Given the description of an element on the screen output the (x, y) to click on. 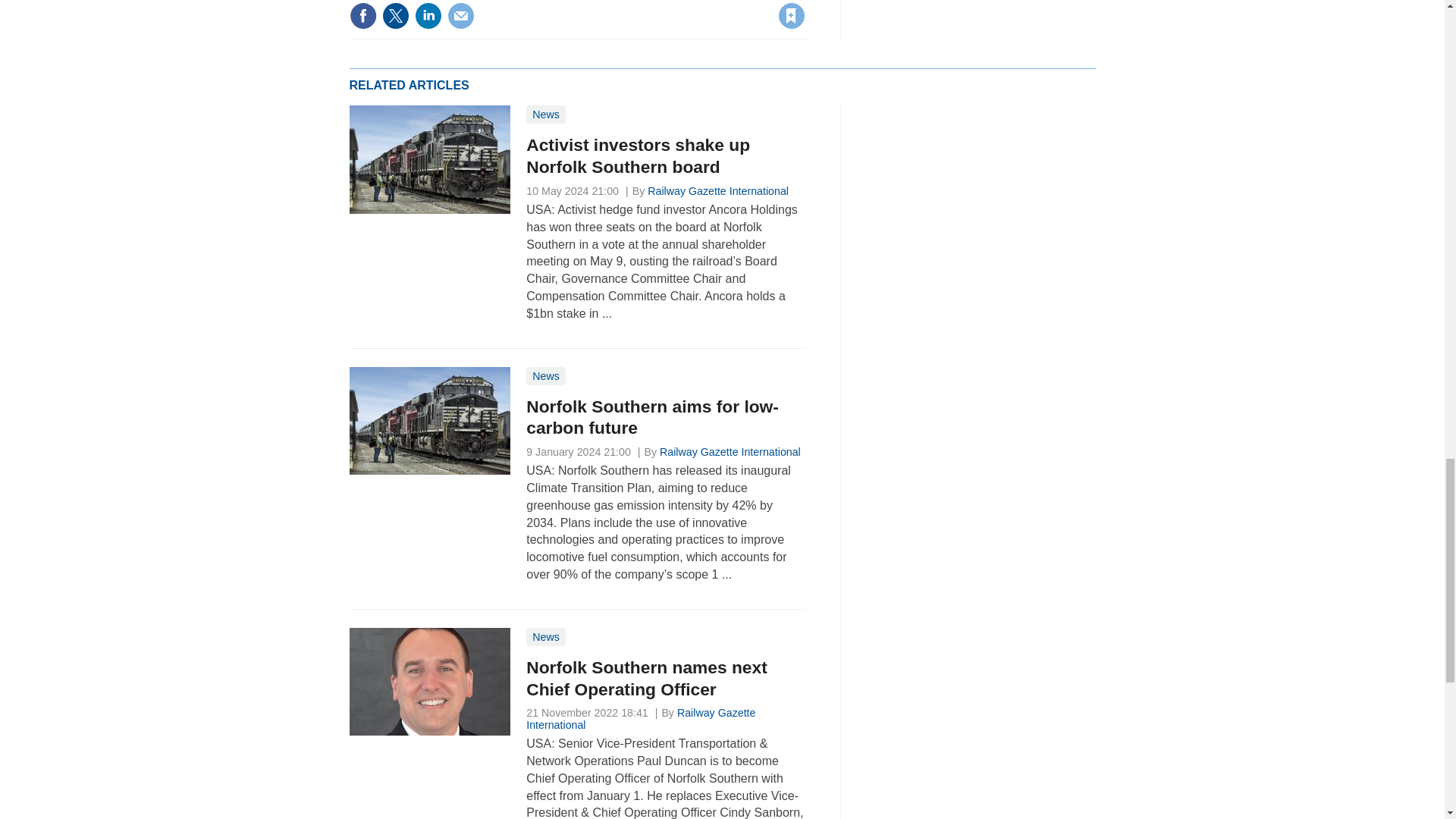
Share this on Linked in (427, 15)
Share this on Facebook (362, 15)
Email this article (460, 15)
Share this on Twitter (395, 15)
